Given the description of an element on the screen output the (x, y) to click on. 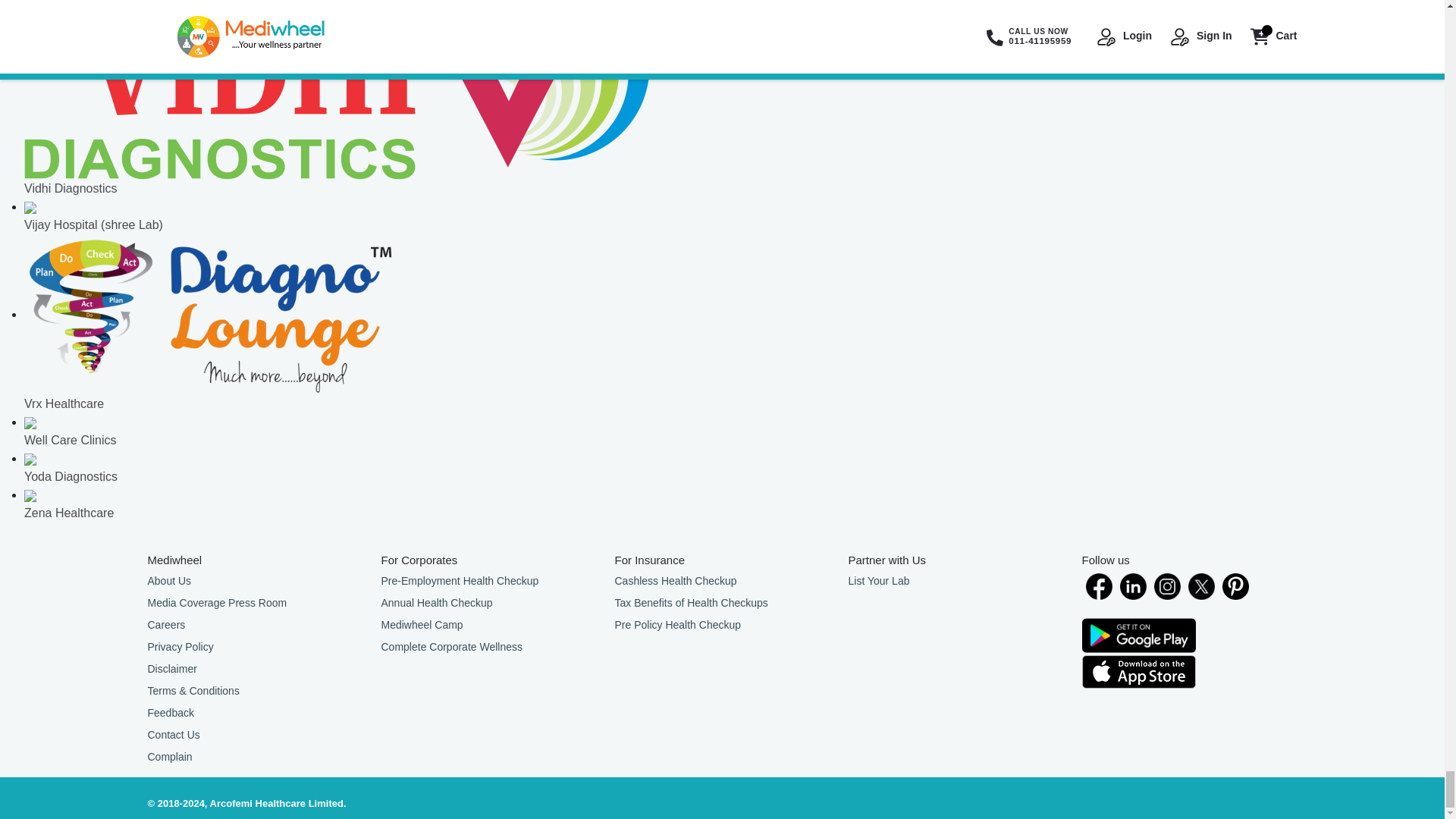
Media Coverage Press Room (254, 602)
About (254, 580)
